Given the description of an element on the screen output the (x, y) to click on. 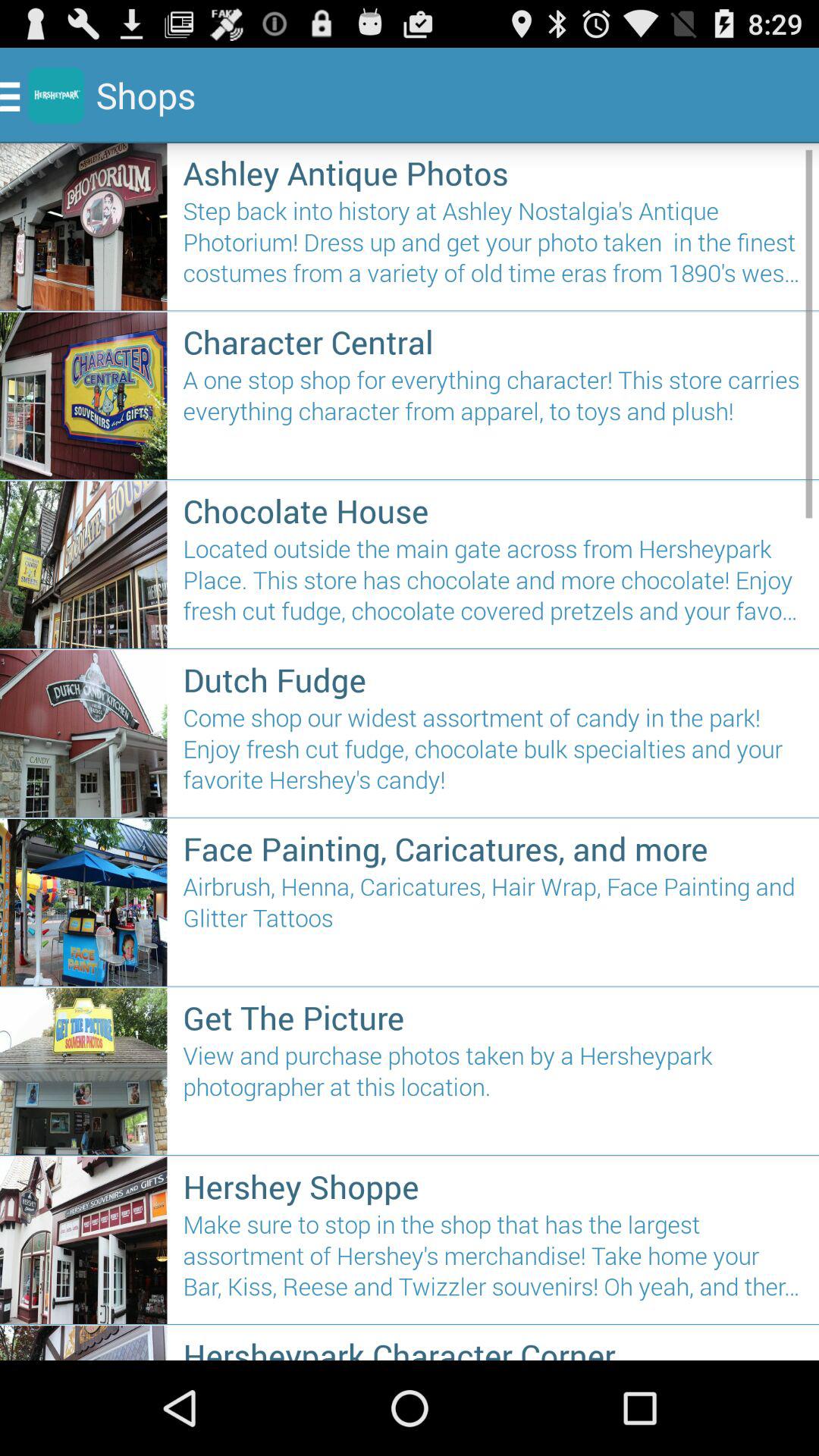
open icon above the chocolate house item (493, 417)
